Given the description of an element on the screen output the (x, y) to click on. 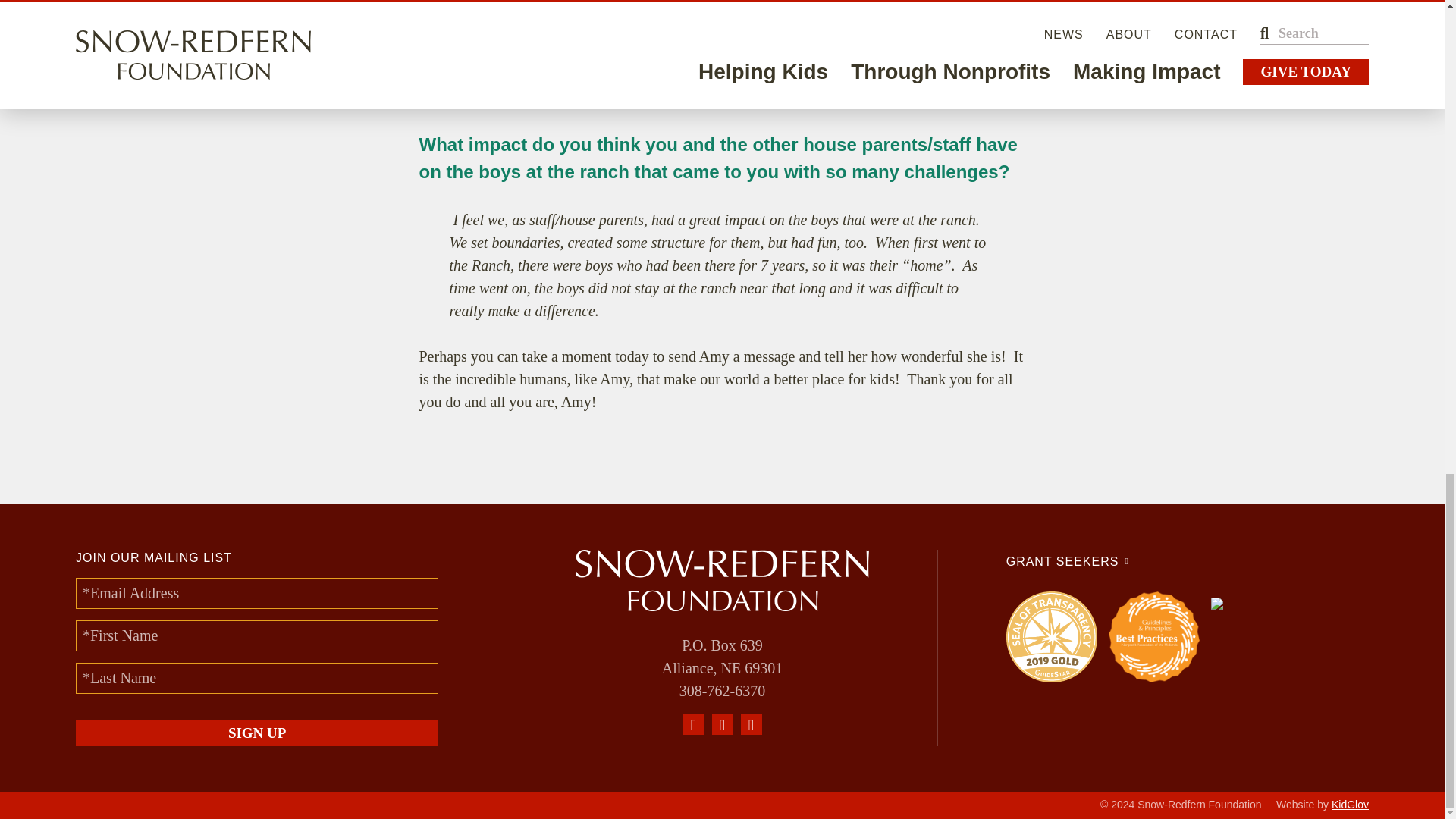
GRANT SEEKERS (1067, 561)
Sign Up (256, 733)
308-762-6370 (722, 690)
Sign Up (256, 733)
KidGlov (1350, 804)
